Given the description of an element on the screen output the (x, y) to click on. 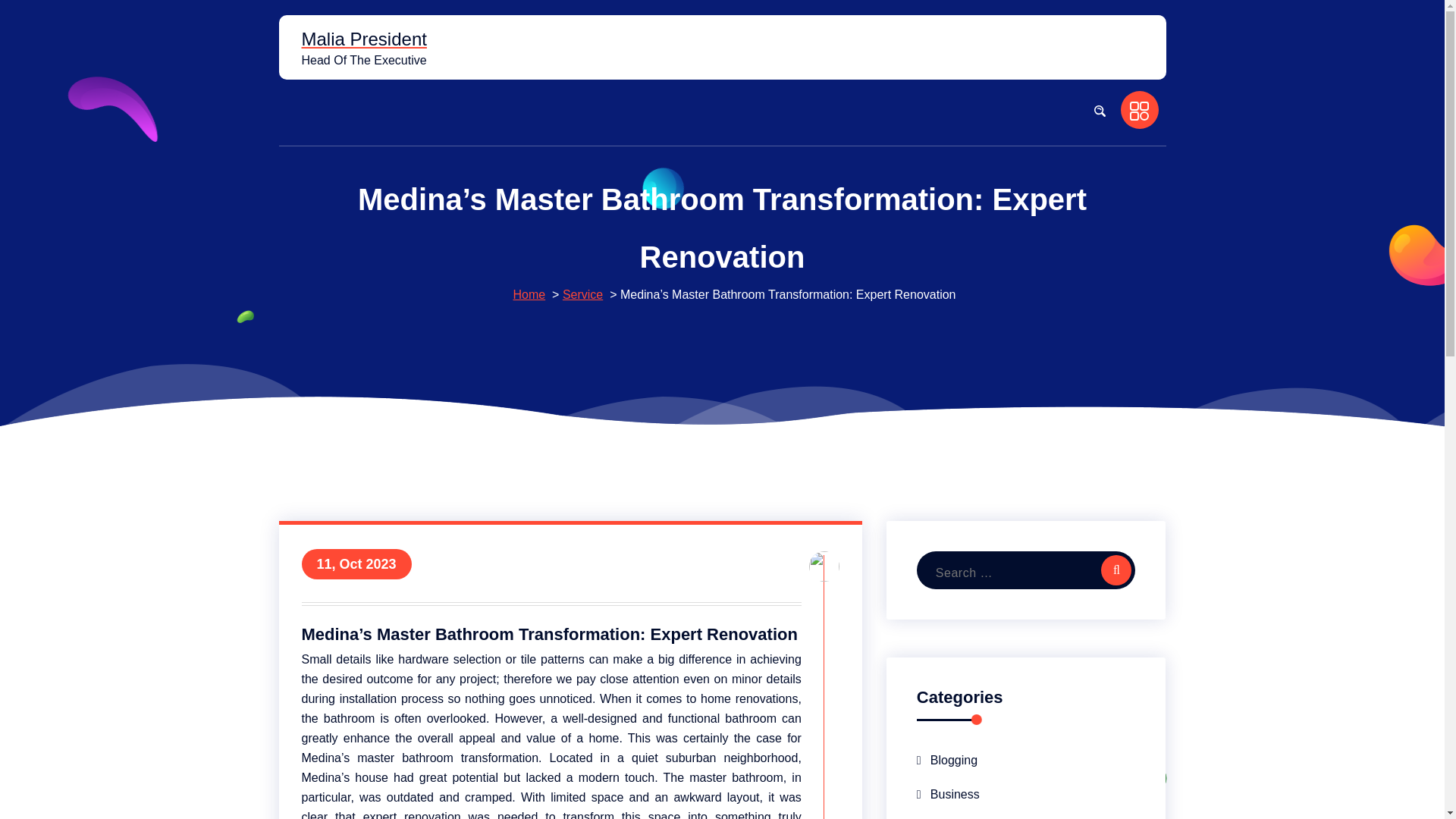
Malia President (363, 39)
Business (948, 794)
Search (1115, 570)
Fashion (945, 815)
Blogging (946, 759)
Service (582, 294)
Home (528, 294)
